Given the description of an element on the screen output the (x, y) to click on. 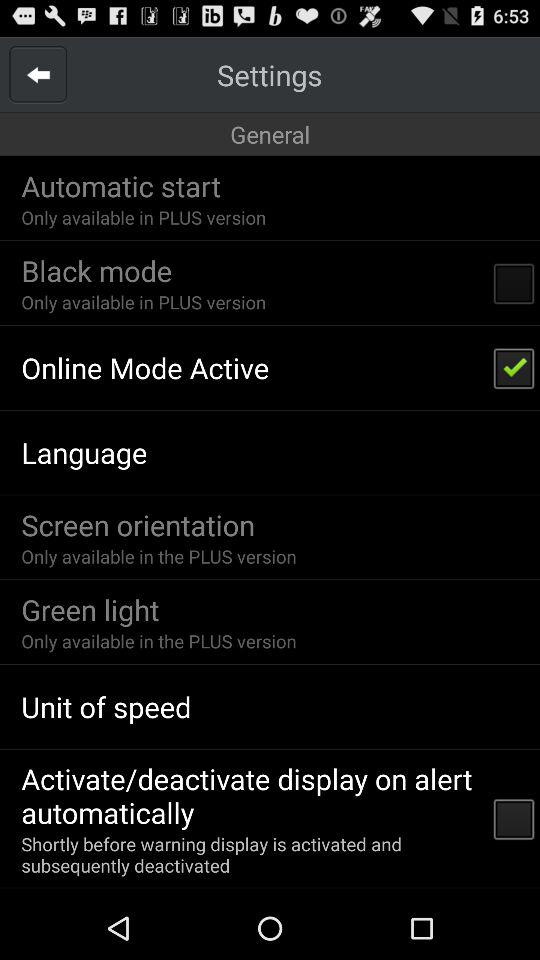
go back option (38, 74)
